Given the description of an element on the screen output the (x, y) to click on. 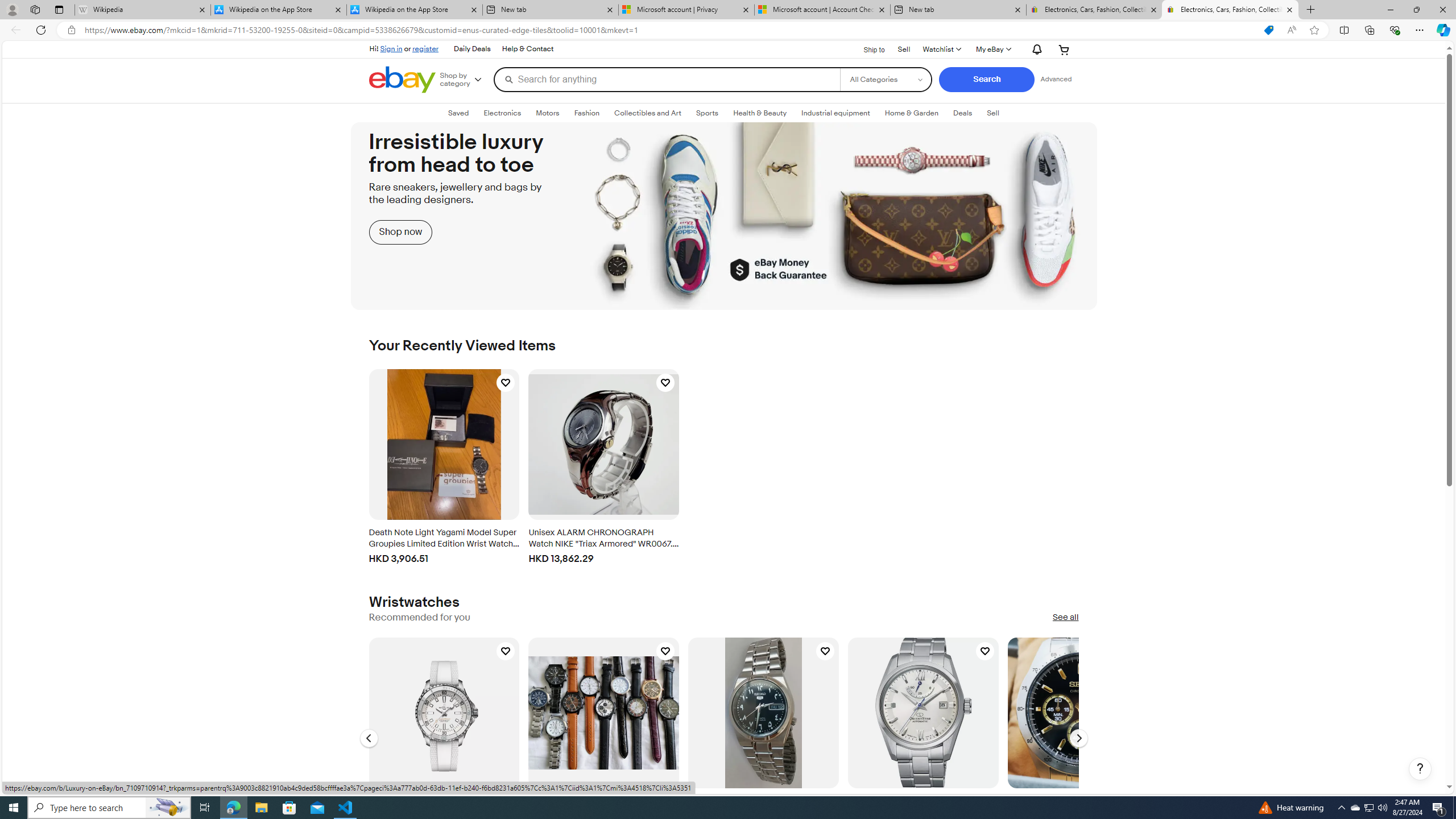
Wristwatches (414, 601)
Fashion (586, 112)
Help & Contact (527, 49)
Help, opens dialogs (1420, 768)
SportsExpand: Sports (707, 112)
WatchlistExpand Watch List (940, 49)
